Given the description of an element on the screen output the (x, y) to click on. 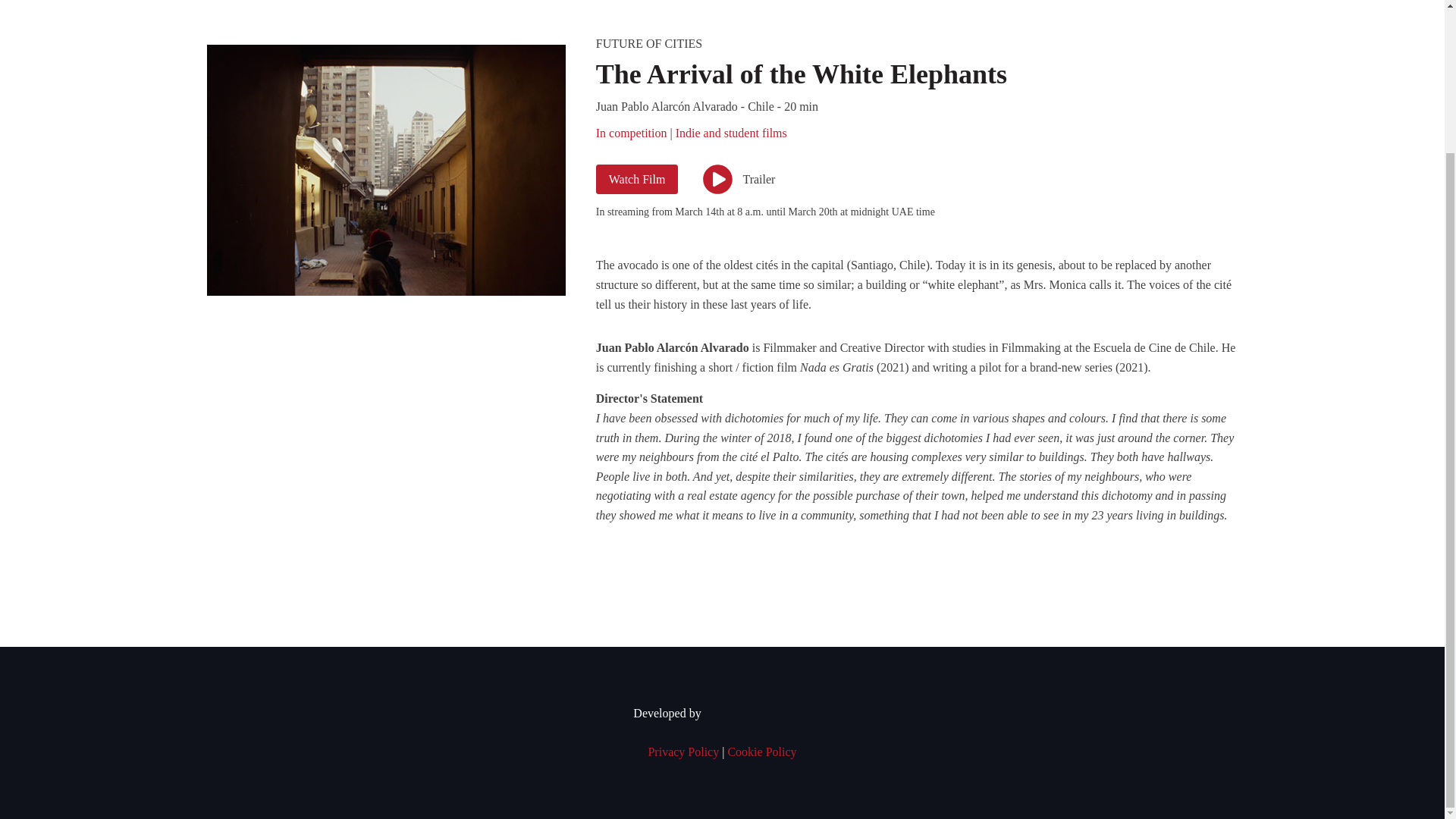
Privacy Policy (683, 752)
Cookie Policy (761, 752)
Developed by (721, 713)
Indie and student films (731, 132)
In competition (630, 132)
Watch Film (636, 179)
